Given the description of an element on the screen output the (x, y) to click on. 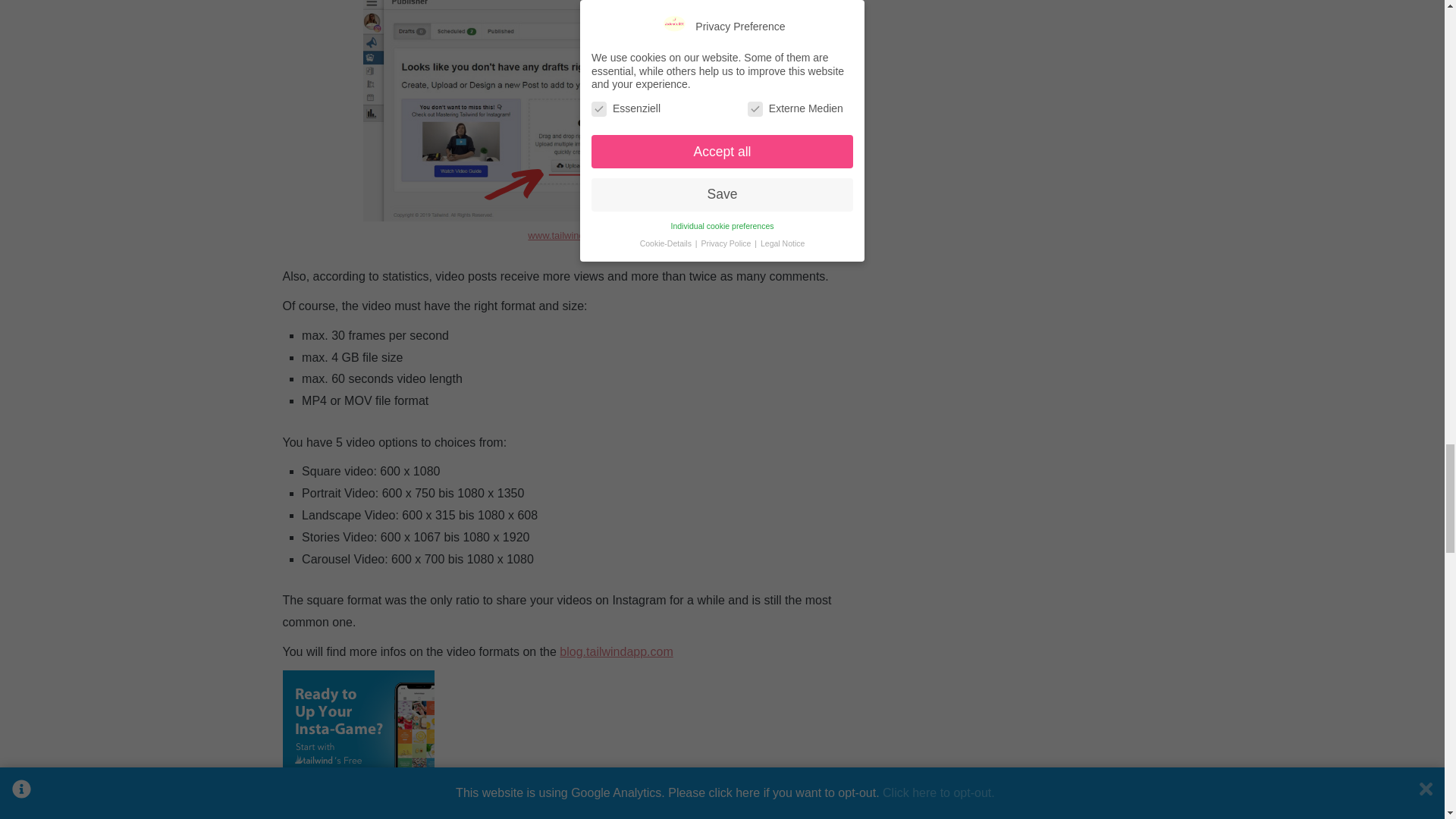
blog.tailwindapp.com (615, 651)
www.tailwindapp.com (574, 235)
